Given the description of an element on the screen output the (x, y) to click on. 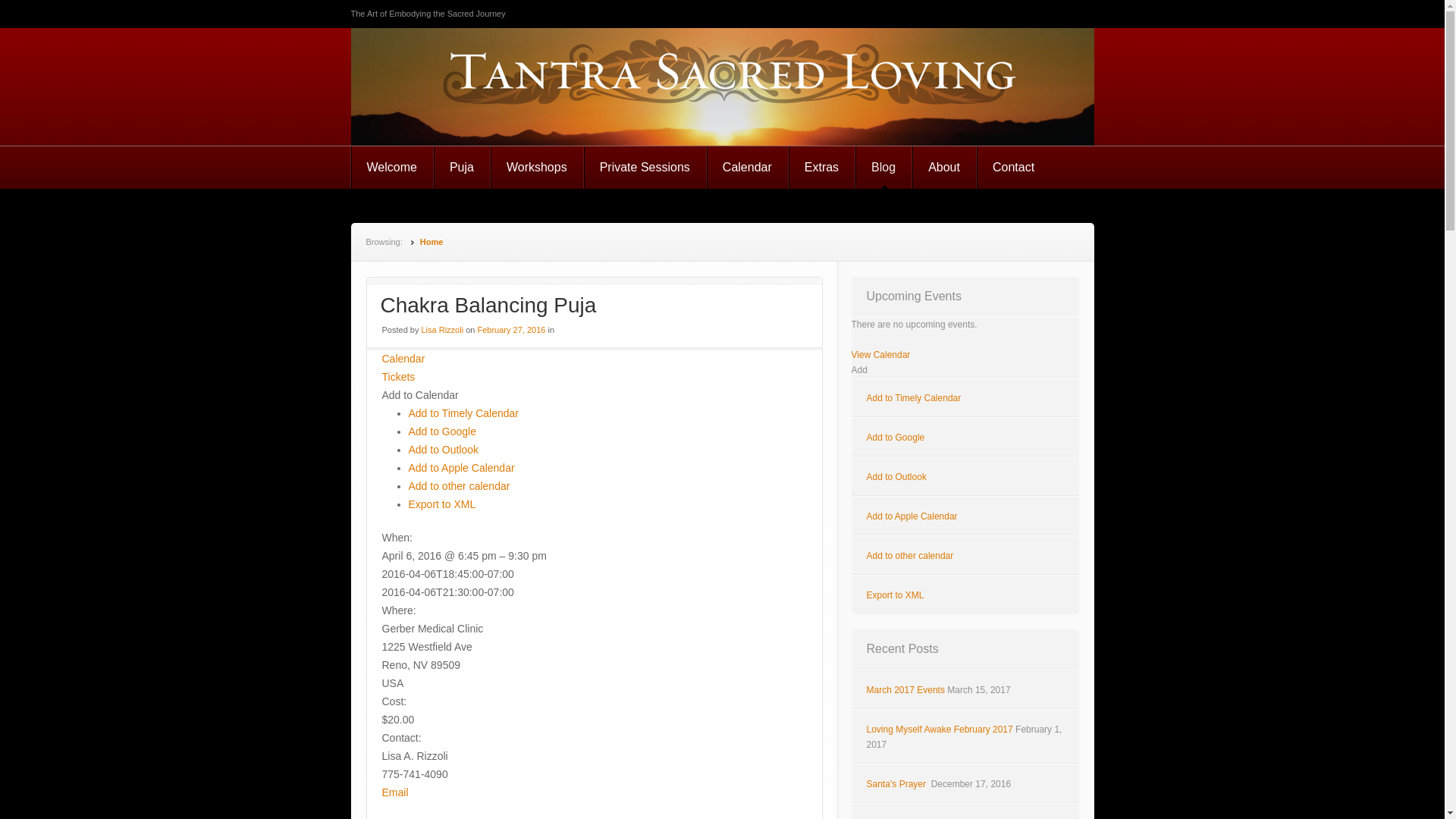
Tantra Sacred Loving (507, 85)
Add to Timely Calendar (913, 398)
Home (432, 241)
Add to other calendar (458, 485)
Tickets (397, 377)
Email (395, 792)
Private Sessions (644, 167)
Tantra Sacred Loving (507, 85)
Calendar (403, 358)
Add to Timely Calendar (462, 413)
Add to Google (895, 437)
February 27, 2016 (511, 329)
Add to Outlook (443, 449)
View all events (403, 358)
